Given the description of an element on the screen output the (x, y) to click on. 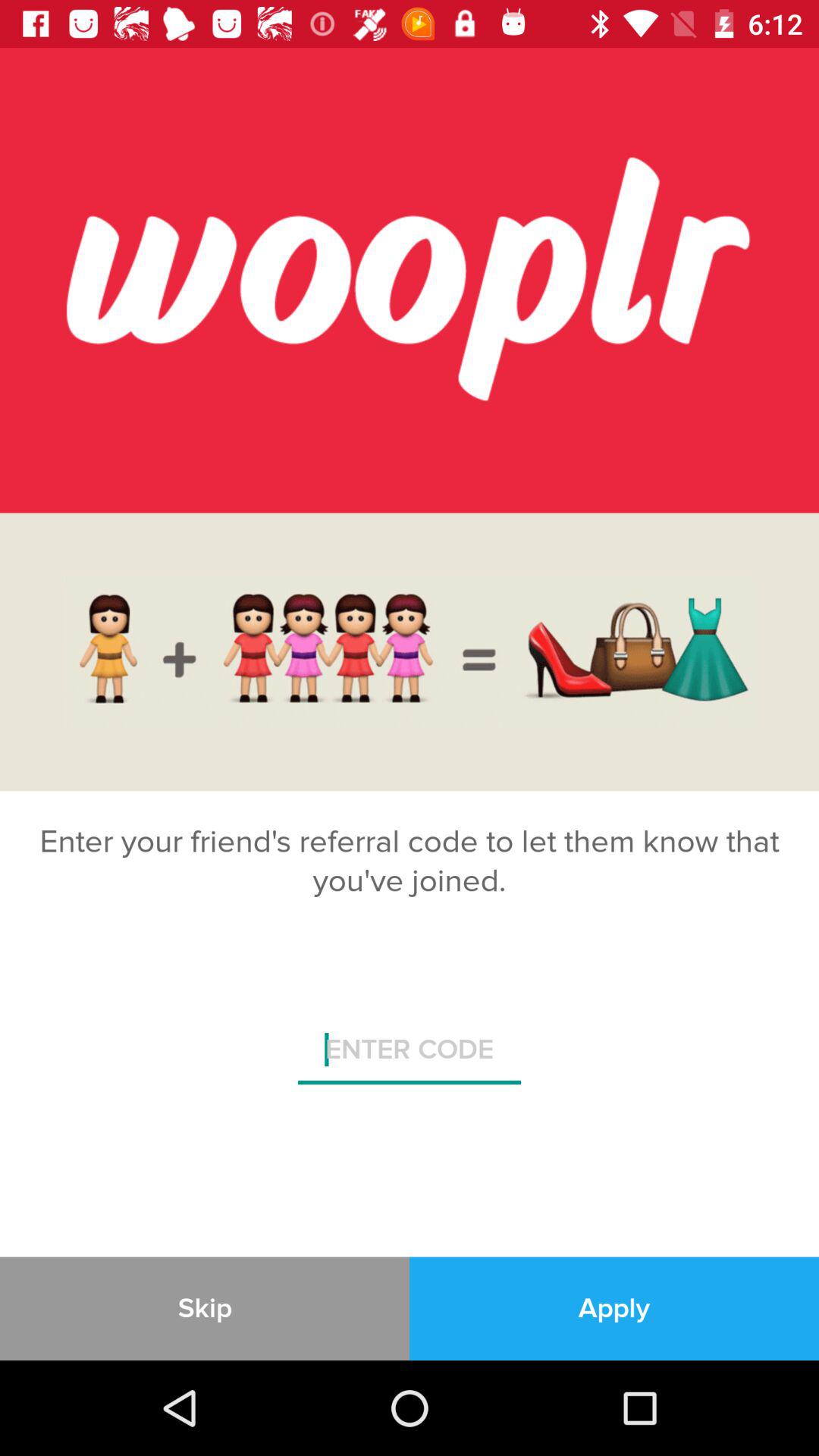
press item at the bottom left corner (204, 1308)
